Given the description of an element on the screen output the (x, y) to click on. 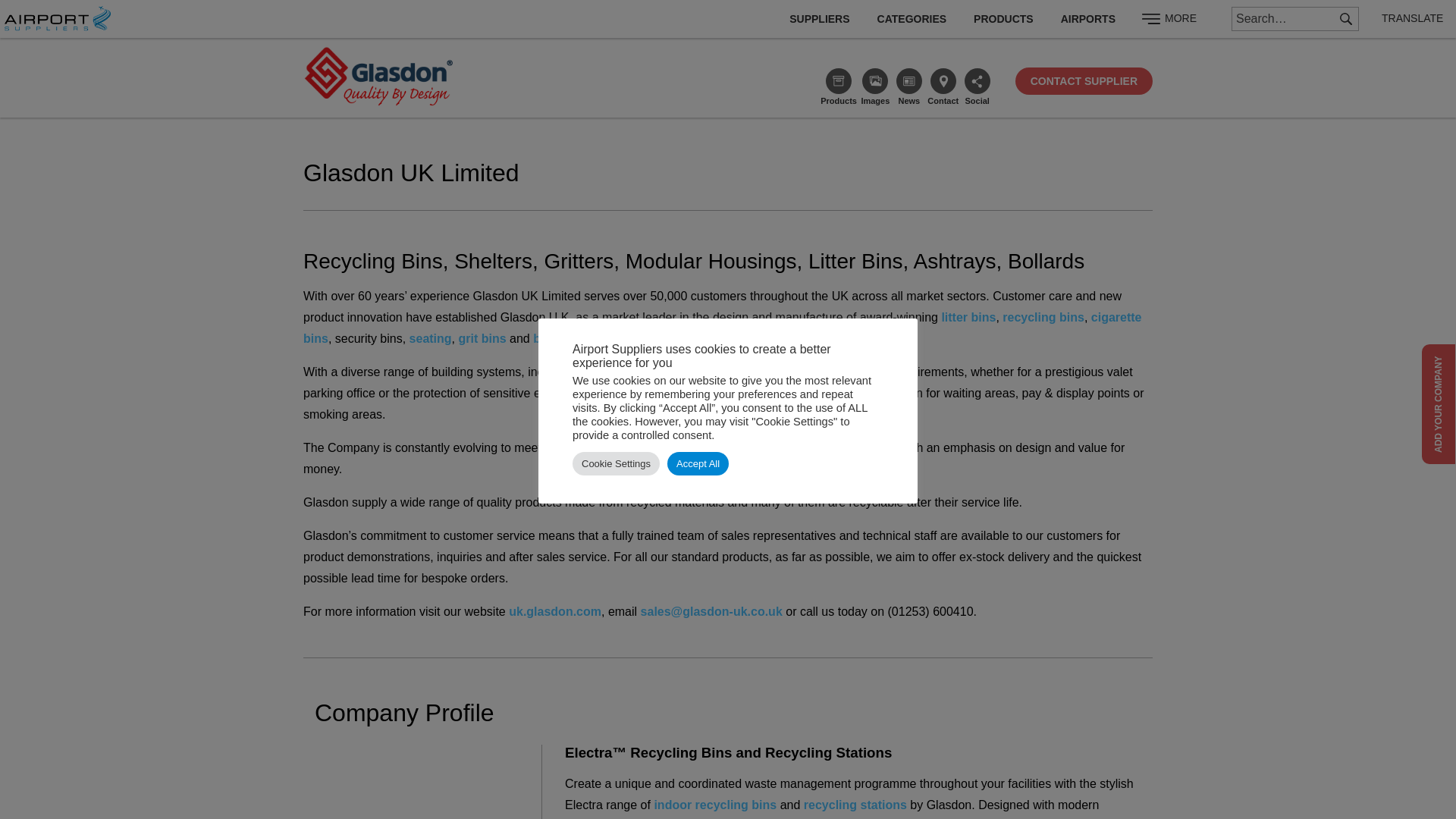
CATEGORIES (911, 18)
recycling bins (1043, 317)
AIRPORTS (1087, 18)
seating (430, 338)
uk.glasdon.com (554, 611)
bollards (555, 338)
Products (839, 84)
cigarette bins (721, 327)
CONTACT SUPPLIER (1083, 81)
SUPPLIERS (819, 18)
litter bins (967, 317)
GRP kiosks (612, 371)
indoor recycling bins (714, 804)
grit bins (481, 338)
recycling stations (855, 804)
